Given the description of an element on the screen output the (x, y) to click on. 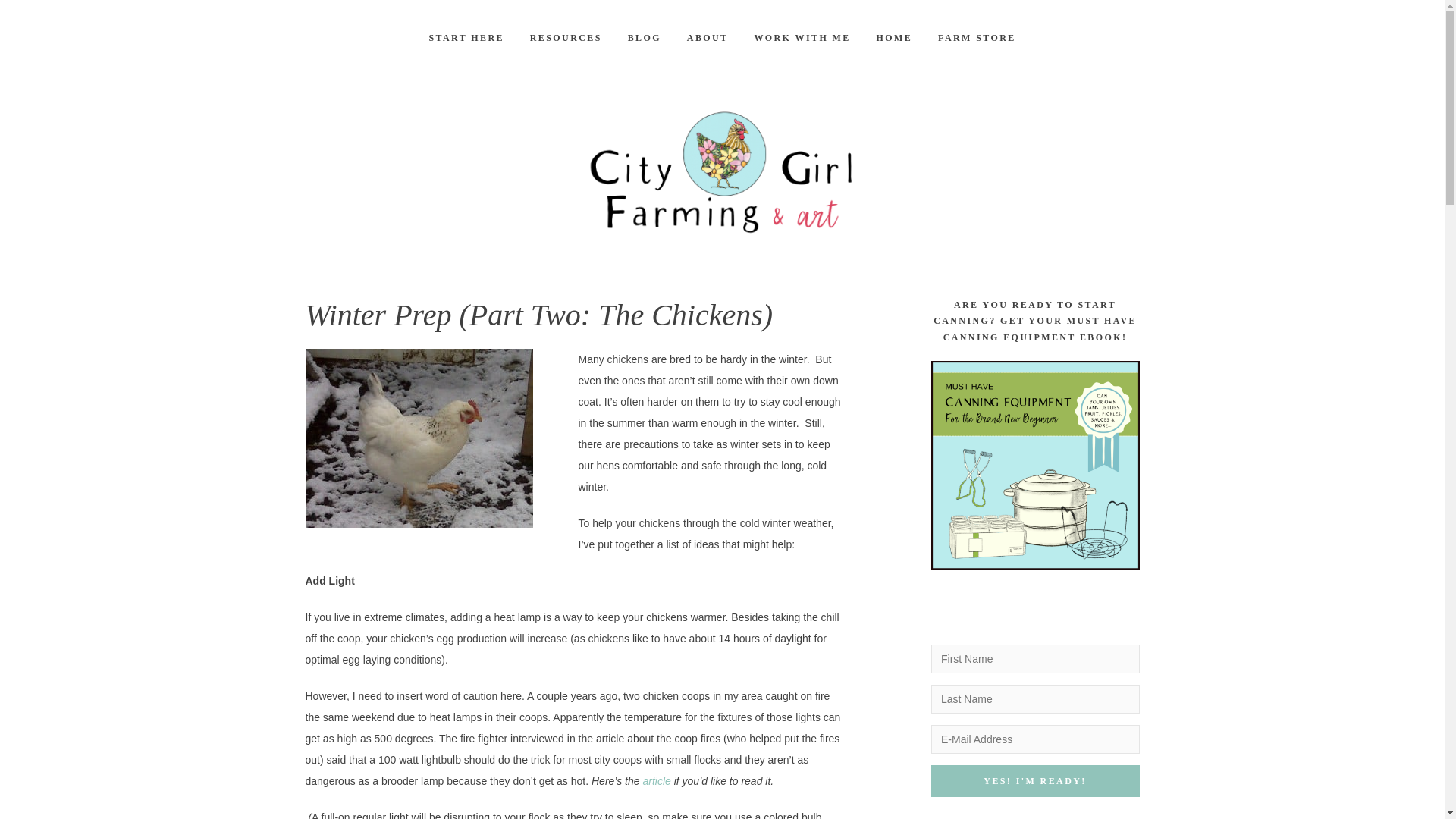
START HERE (465, 38)
FARM STORE (976, 38)
Yes! I'm Ready! (1035, 780)
article (655, 780)
How to Use Essential Oils with Chickens (1035, 465)
WORK WITH ME (801, 38)
Snowflake (418, 437)
RESOURCES (565, 38)
